Given the description of an element on the screen output the (x, y) to click on. 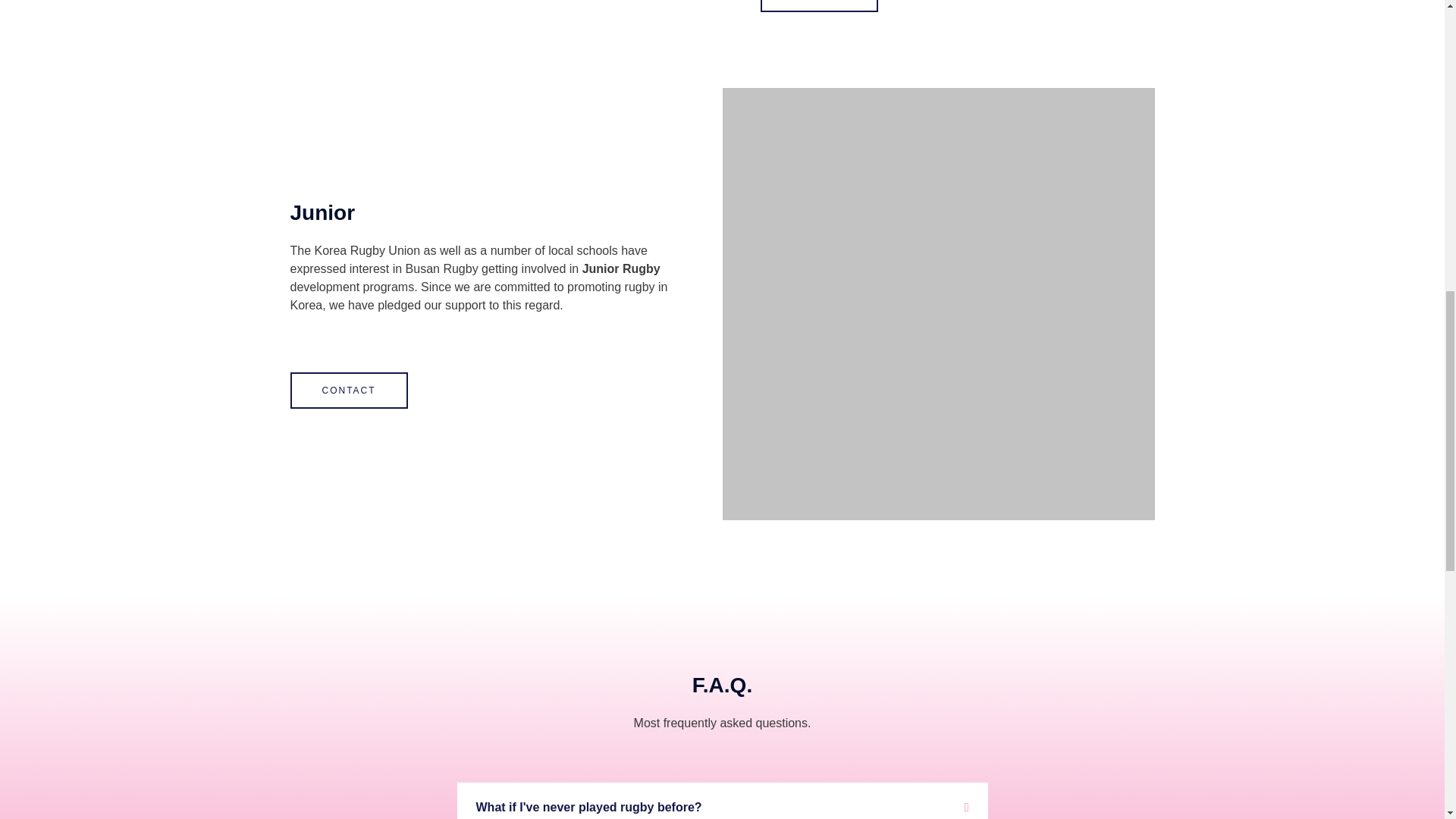
What if I've never played rugby before? (588, 807)
CONTACT (818, 6)
CONTACT (348, 390)
